Given the description of an element on the screen output the (x, y) to click on. 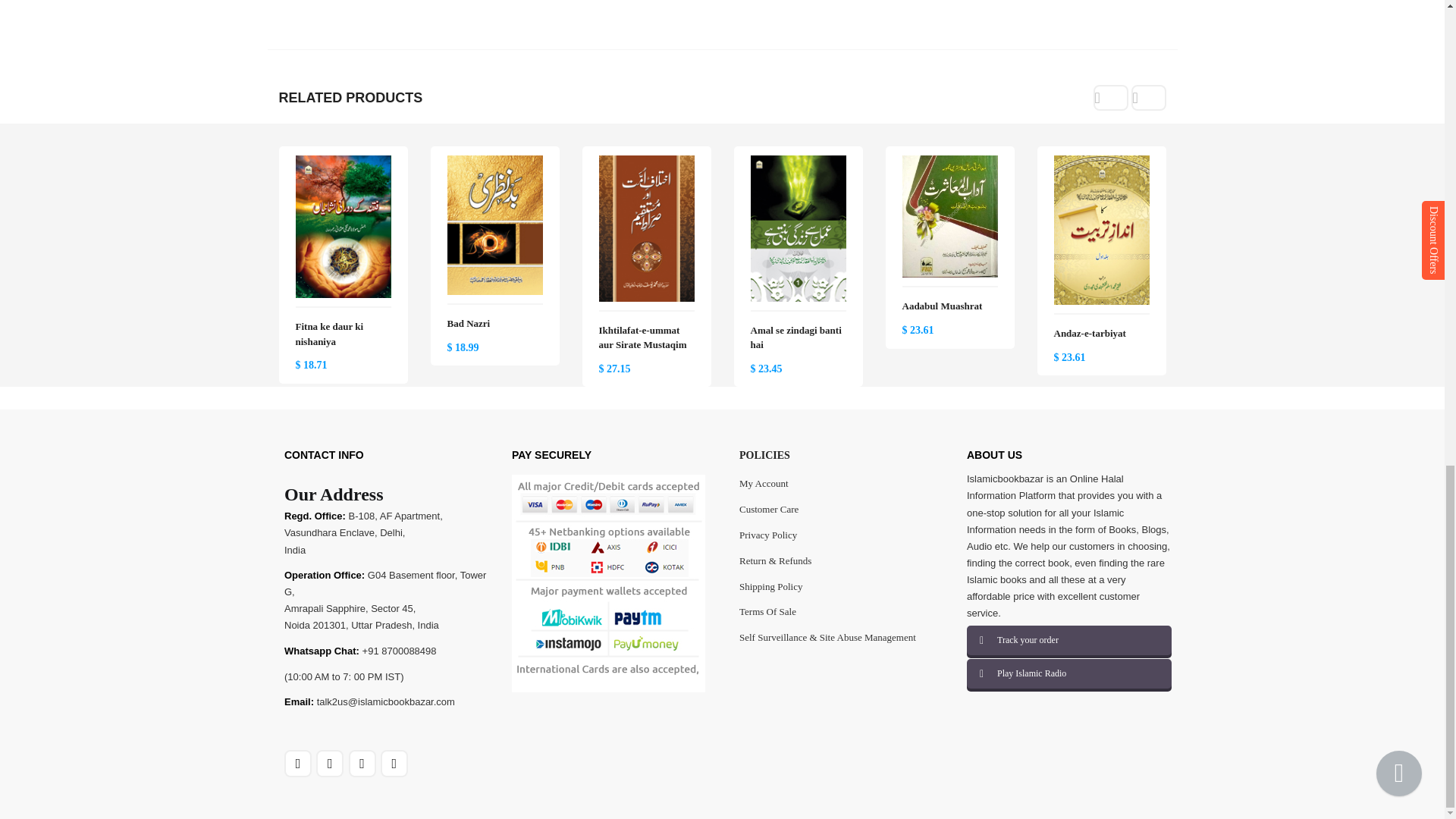
Andaz-e-tarbiyat (1102, 163)
Aadabul Muashrat (949, 163)
Ikhtilafat-e-ummat aur Sirate Mustaqim (646, 163)
Amal se zindagi banti hai (798, 163)
Fitna ke daur ki nishaniya (343, 163)
Bad Nazri (494, 163)
